Given the description of an element on the screen output the (x, y) to click on. 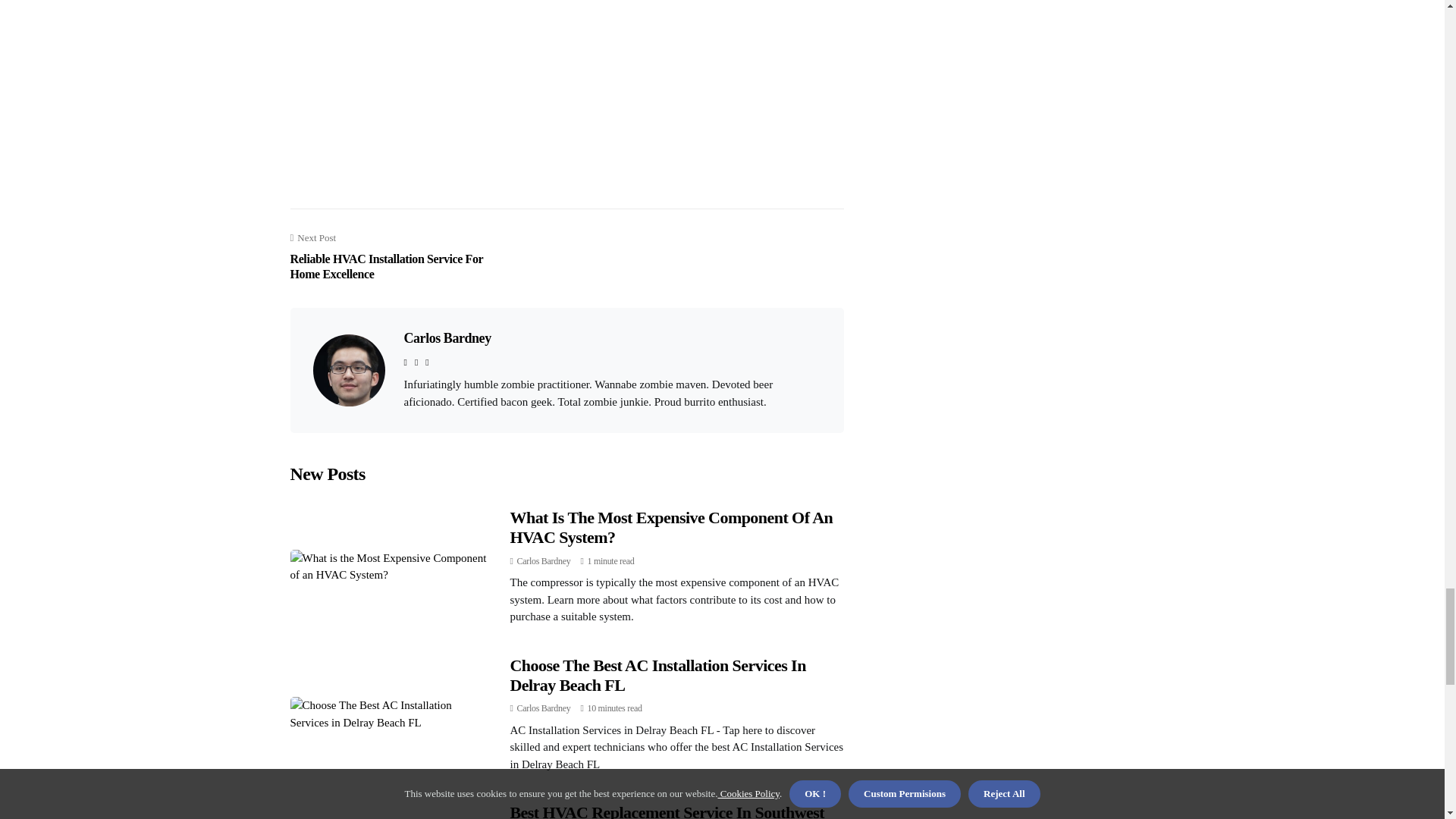
Carlos Bardney (543, 561)
Posts by Carlos Bardney (543, 707)
Posts by Carlos Bardney (543, 561)
Choose The Best AC Installation Services In Delray Beach FL (657, 675)
What Is The Most Expensive Component Of An HVAC System? (670, 527)
Best HVAC Replacement Service In Southwest Ranches FL (666, 811)
Carlos Bardney (543, 707)
Carlos Bardney (446, 337)
